Given the description of an element on the screen output the (x, y) to click on. 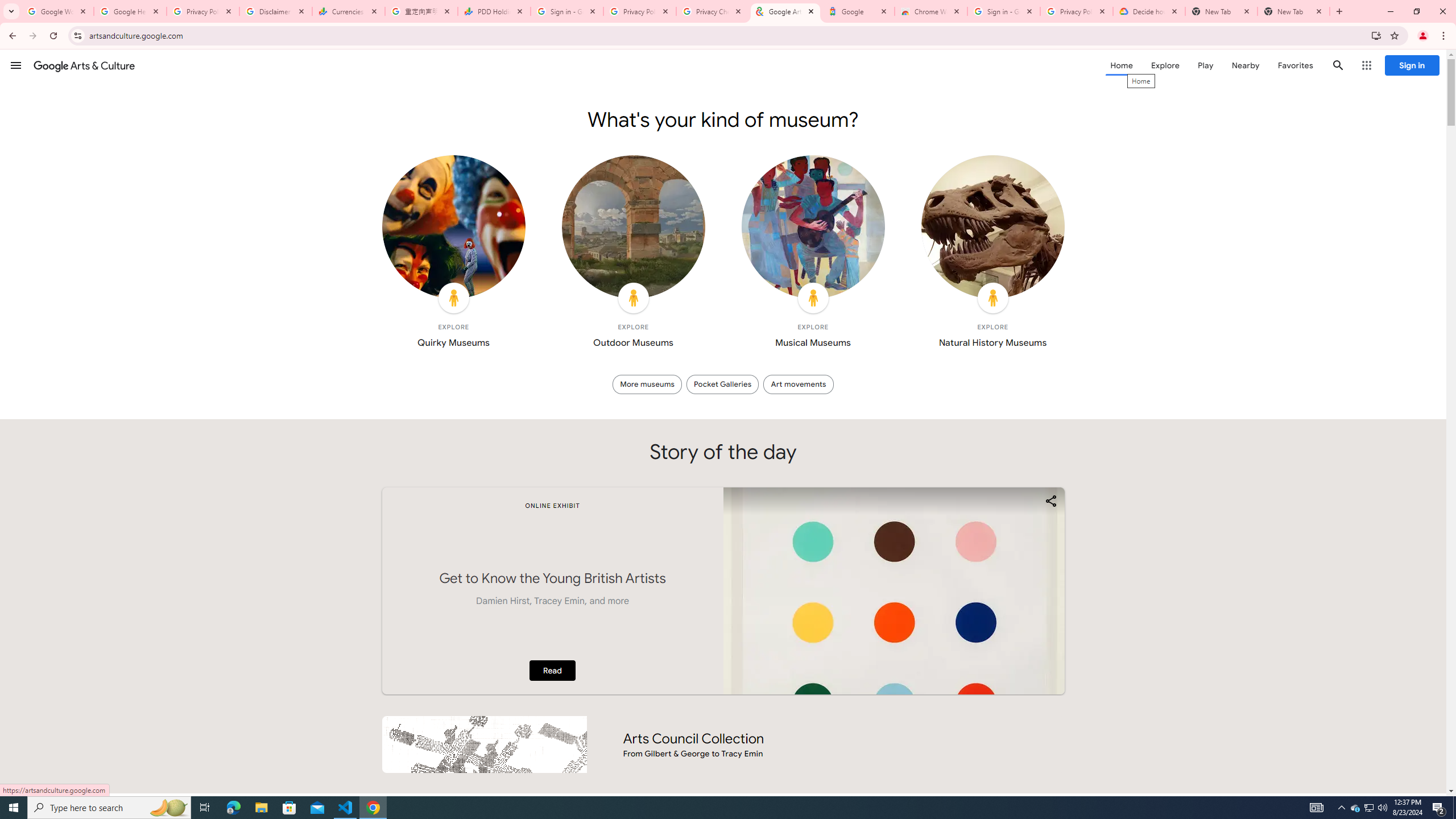
PDD Holdings Inc - ADR (PDD) Price & News - Google Finance (493, 11)
Favorites (1295, 65)
Explore (1164, 65)
More museums (647, 384)
EXPLORE Quirky Museums (453, 254)
Google Arts & Culture (84, 65)
Share "Get to Know the Young British Artists" (1050, 500)
Arts Council Collection From Gilbert & George to Tracy Emin (722, 744)
